Given the description of an element on the screen output the (x, y) to click on. 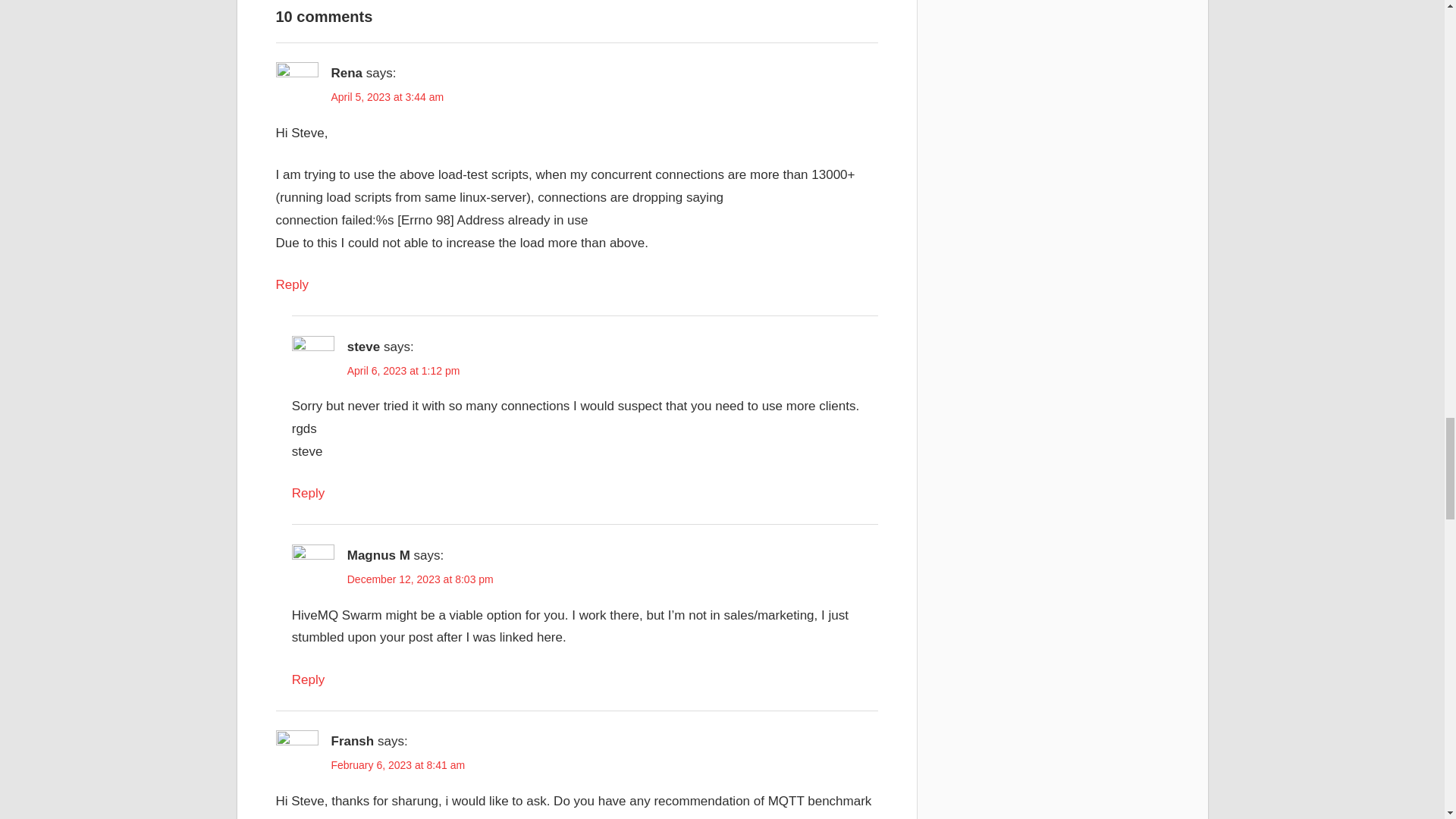
Tips for Testing The Mosquitto Broker on Linux (429, 554)
Tips for Testing the mosquitto broker on Linux (429, 554)
April 5, 2023 at 3:44 am (387, 766)
